Given the description of an element on the screen output the (x, y) to click on. 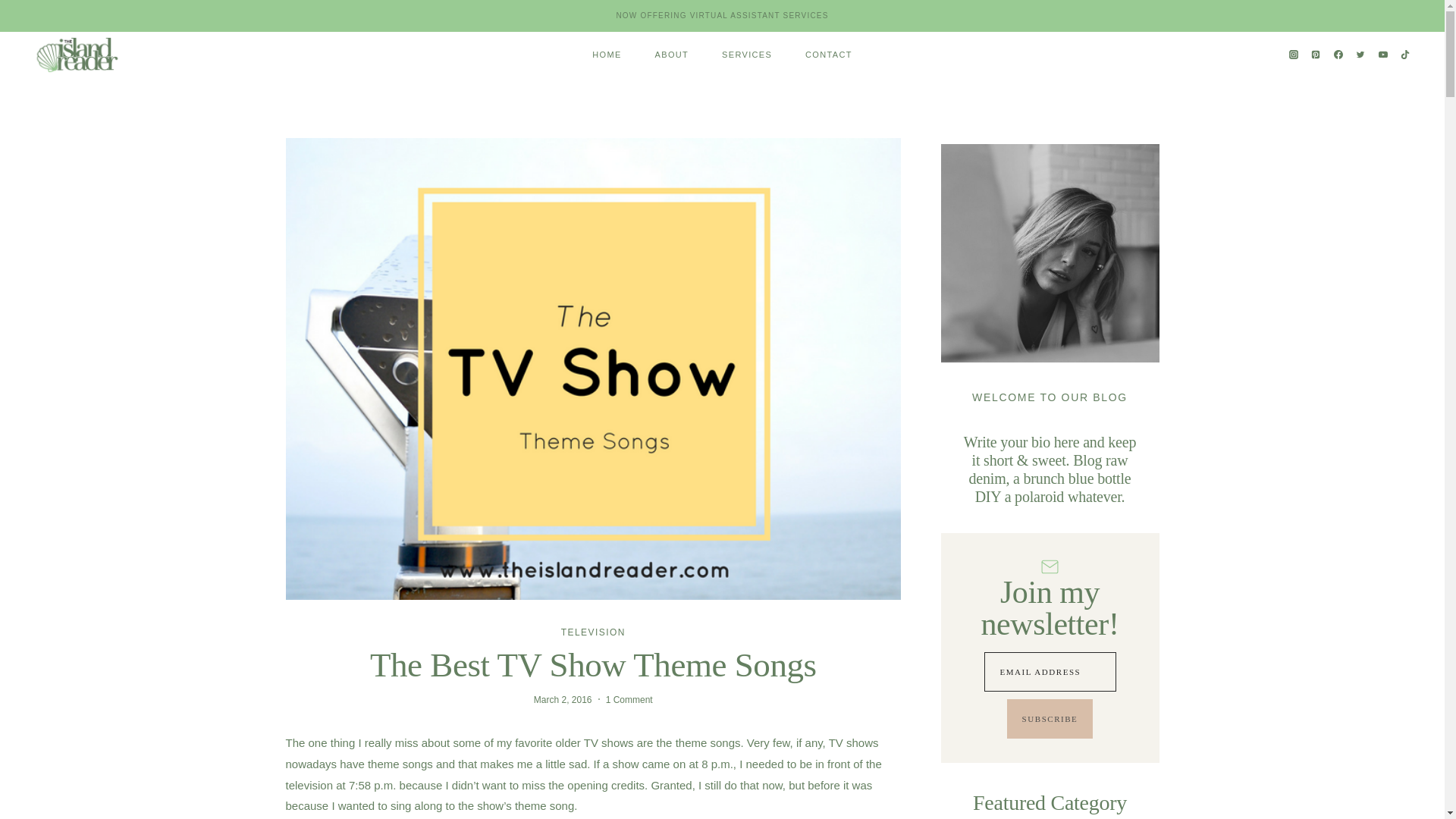
1 Comment (628, 699)
NOW OFFERING VIRTUAL ASSISTANT SERVICES (721, 15)
TELEVISION (593, 632)
CONTACT (829, 54)
ABOUT (672, 54)
SERVICES (746, 54)
1 Comment (628, 699)
HOME (606, 54)
